Given the description of an element on the screen output the (x, y) to click on. 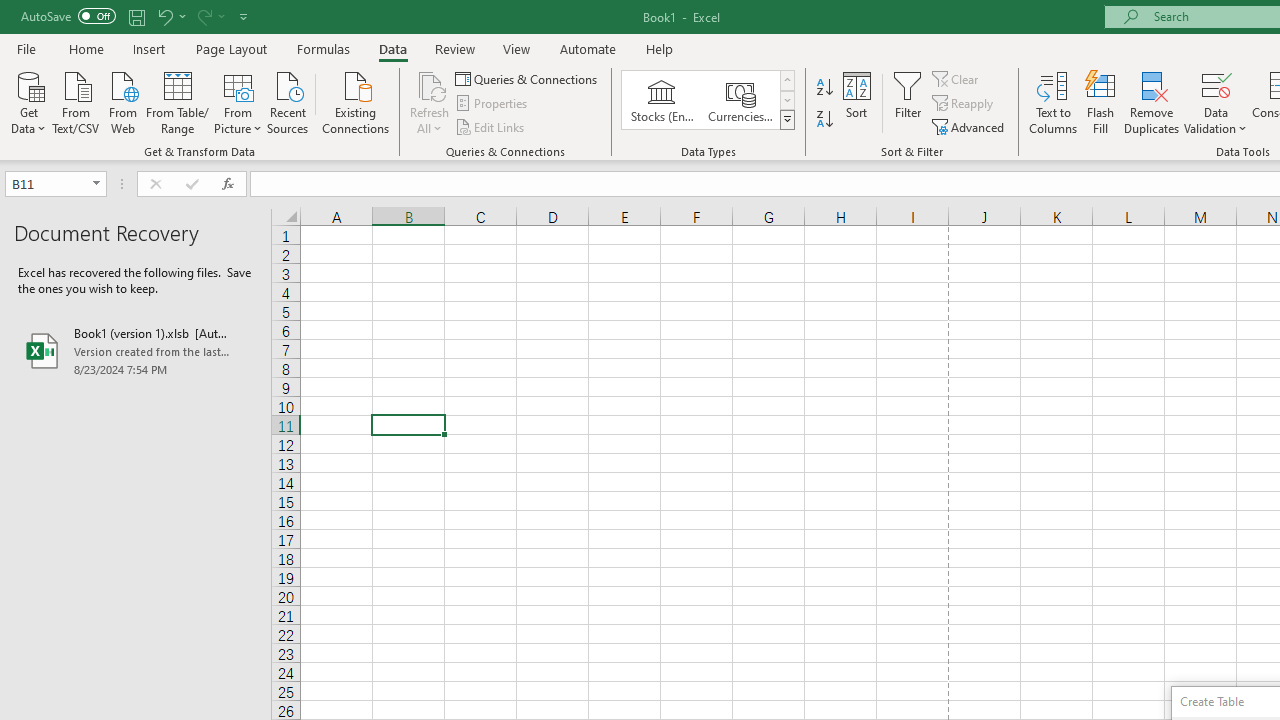
Reapply (964, 103)
Advanced... (970, 126)
Sort... (856, 102)
Get Data (28, 101)
Class: NetUIImage (787, 119)
Row Down (786, 100)
